Given the description of an element on the screen output the (x, y) to click on. 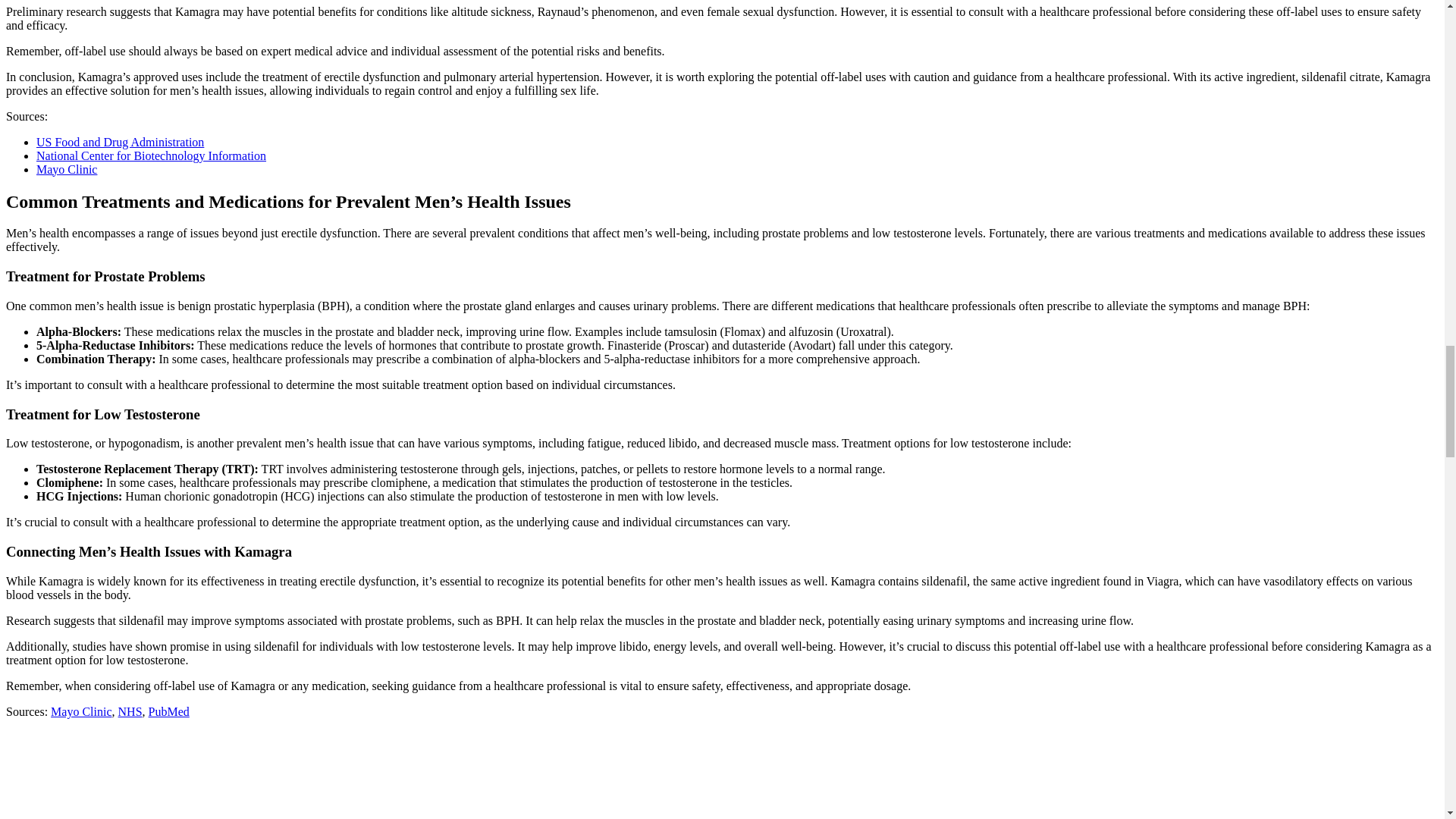
NHS (129, 711)
Mayo Clinic (66, 169)
National Center for Biotechnology Information (151, 155)
PubMed (168, 711)
US Food and Drug Administration (119, 141)
Mayo Clinic (81, 711)
